Given the description of an element on the screen output the (x, y) to click on. 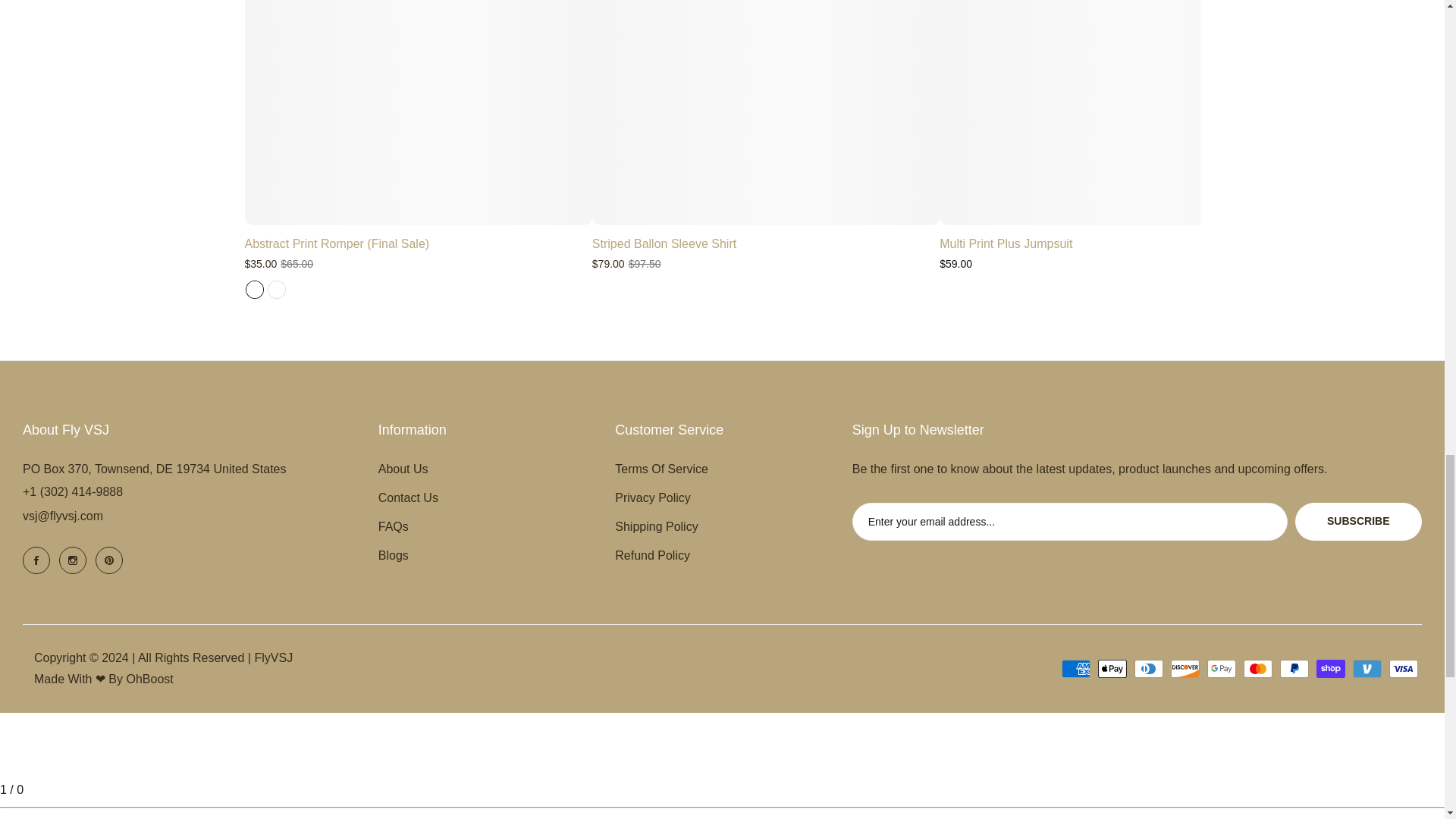
Diners Club (1148, 669)
American Express (1075, 669)
Apple Pay (1111, 669)
